Given the description of an element on the screen output the (x, y) to click on. 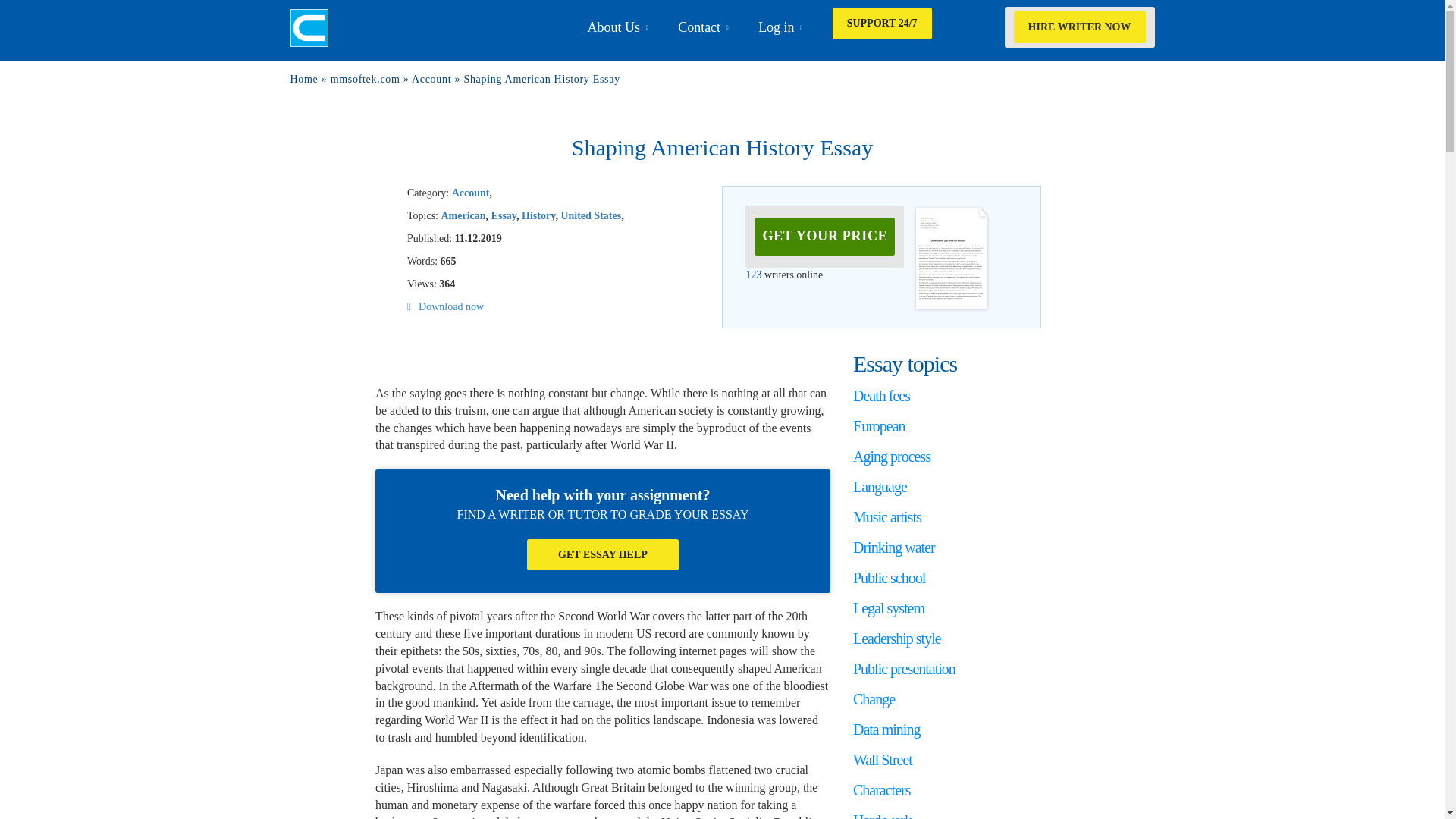
Death fees (881, 395)
United States (590, 215)
Account (470, 193)
American (463, 215)
Aging process (891, 456)
History (537, 215)
Home (303, 79)
GET ESSAY HELP (602, 554)
Essay (504, 215)
About Us (614, 27)
